Given the description of an element on the screen output the (x, y) to click on. 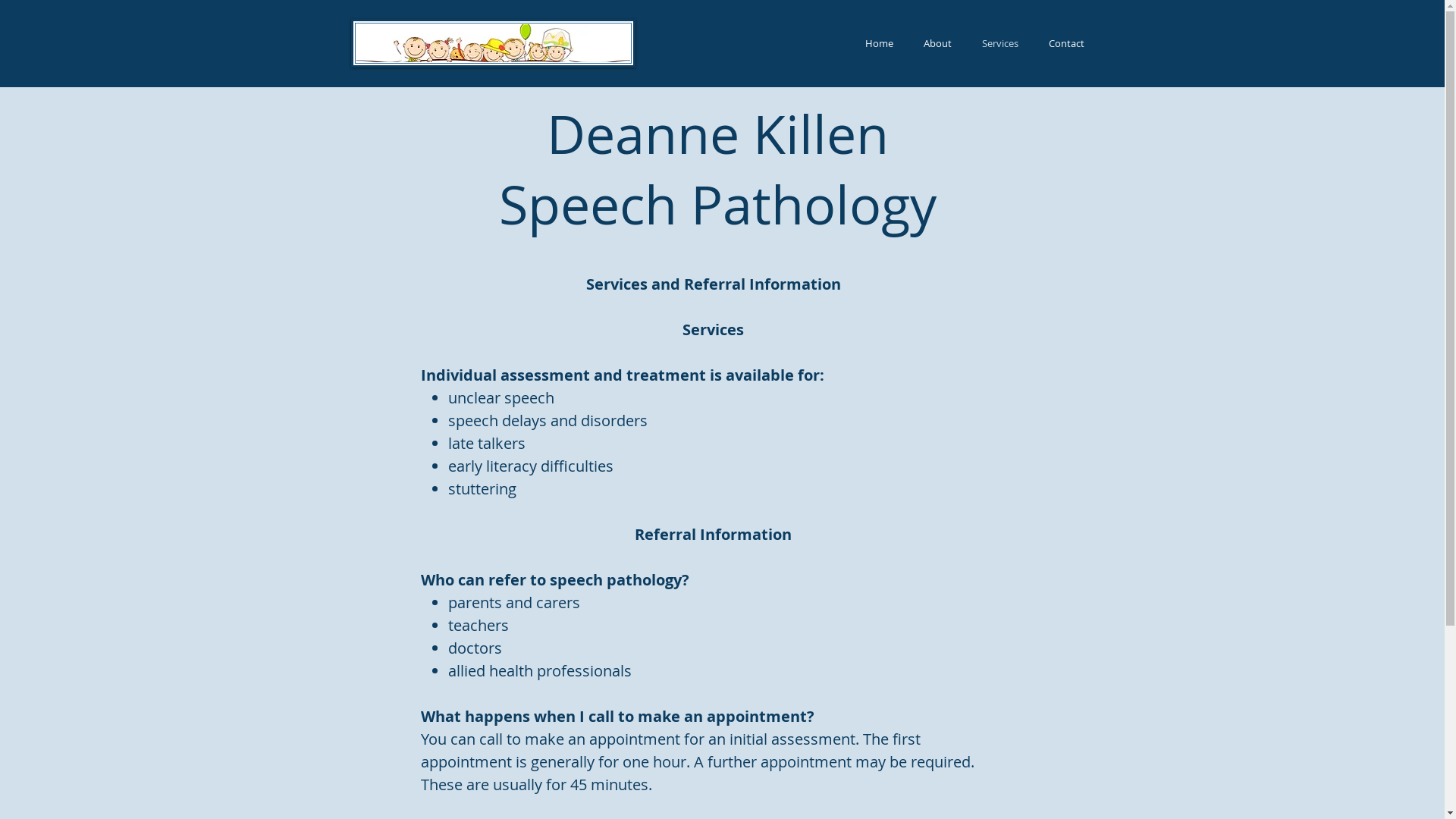
Contact Element type: text (1065, 42)
About Element type: text (937, 42)
Services Element type: text (999, 42)
Home Element type: text (878, 42)
